Given the description of an element on the screen output the (x, y) to click on. 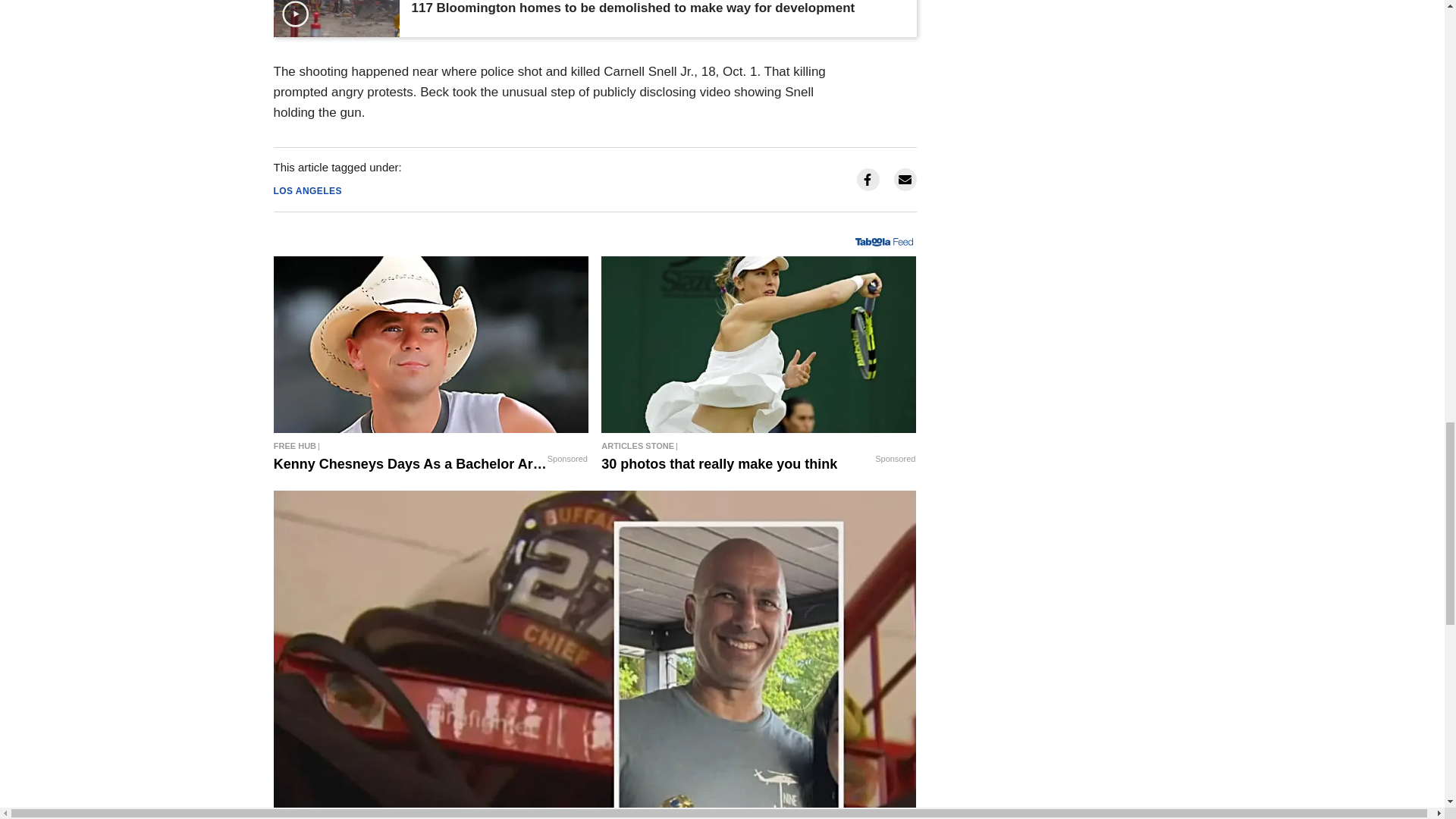
30 photos that really make you think (758, 345)
LOS ANGELES (307, 190)
Kenny Chesneys Days As a Bachelor Are Over (430, 345)
Kenny Chesneys Days As a Bachelor Are Over (430, 445)
30 photos that really make you think (758, 445)
